Given the description of an element on the screen output the (x, y) to click on. 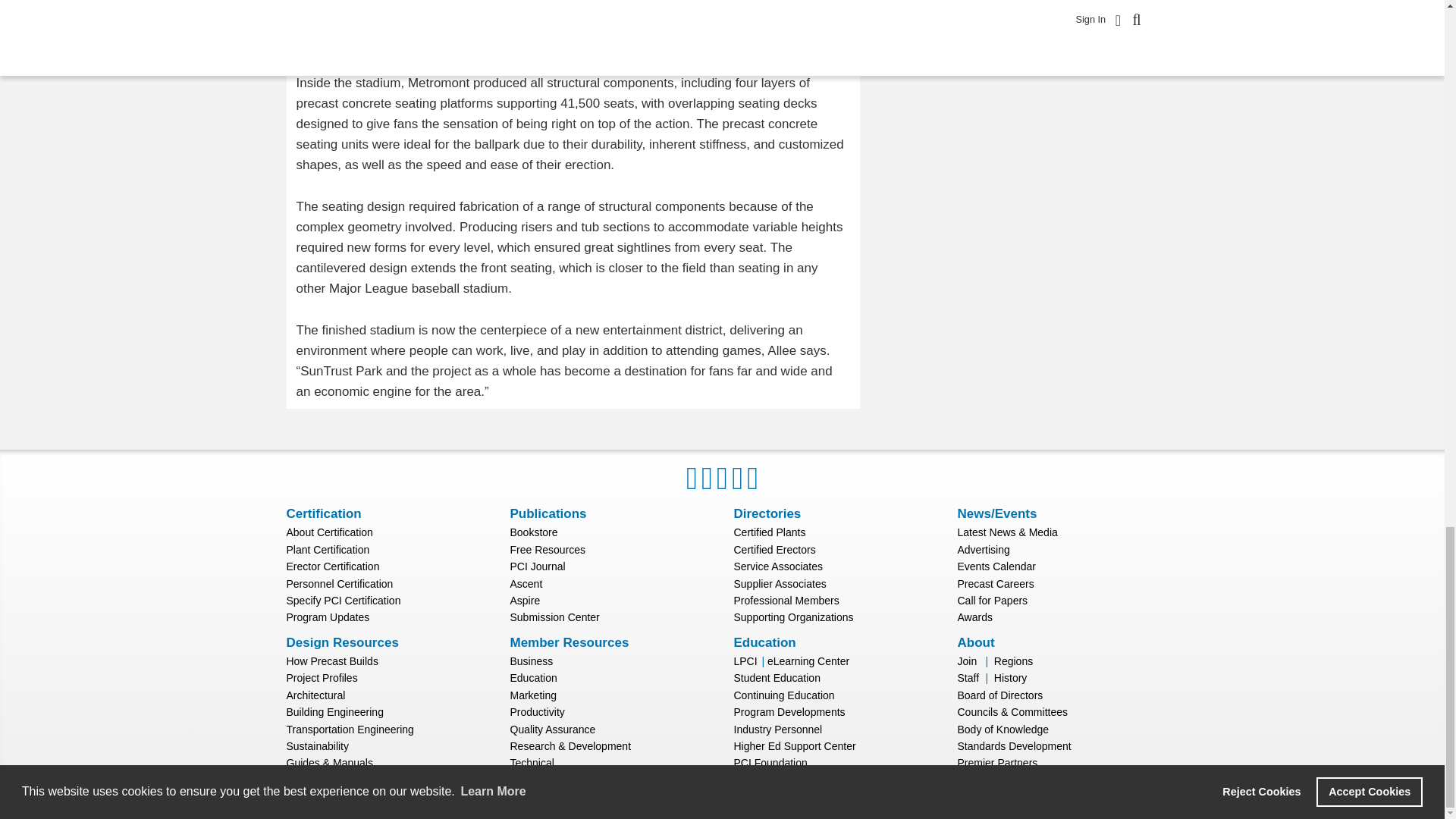
Specify PCI Certification (343, 600)
Erector Certification (333, 566)
Plant Certification (327, 549)
About Certification (329, 532)
Personnel Certification (339, 583)
Certification (323, 513)
